Given the description of an element on the screen output the (x, y) to click on. 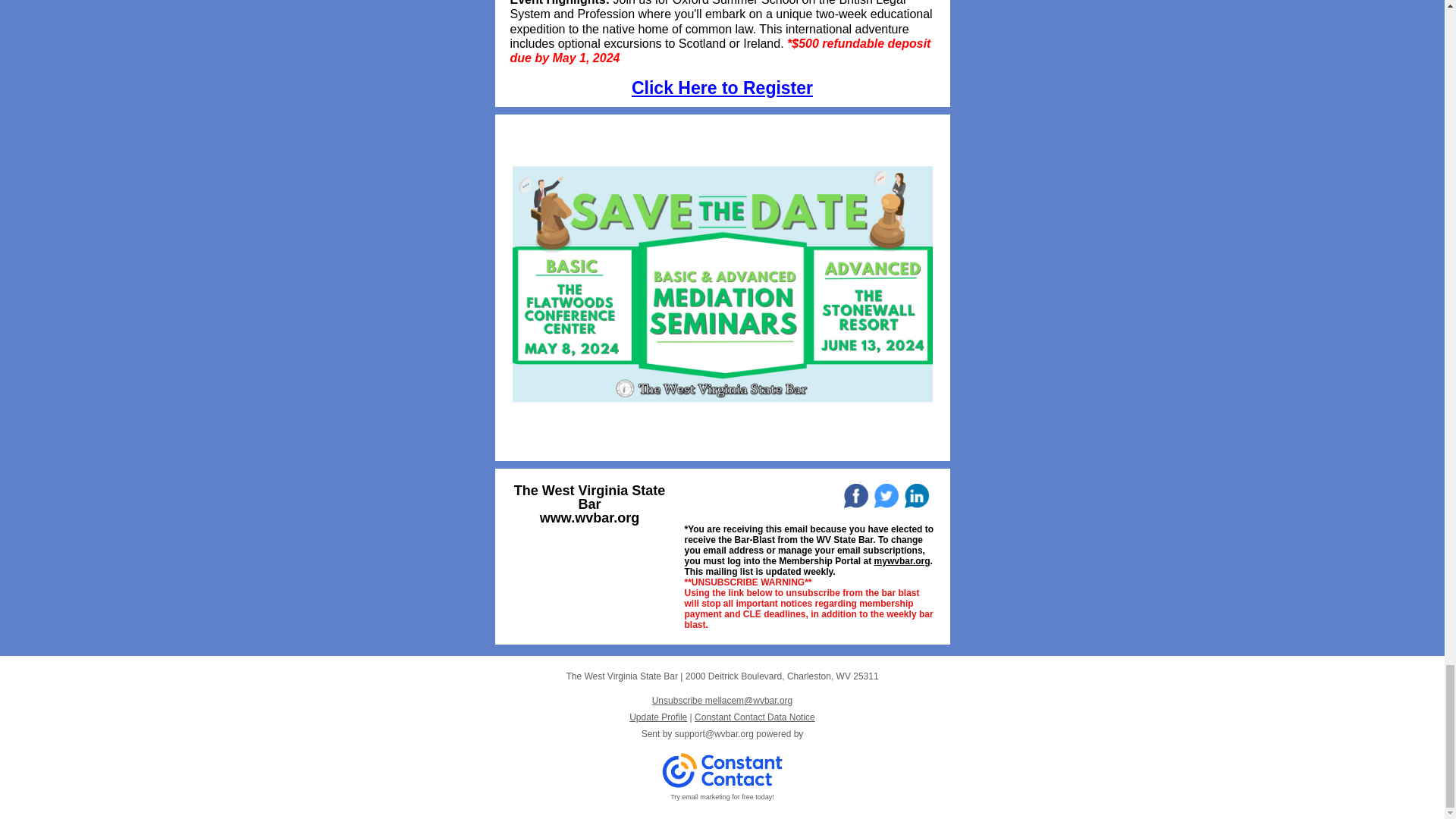
Try email marketing for free today! (721, 796)
mywvbar.org (902, 561)
Update Profile (657, 716)
Click Here to Register (721, 87)
Constant Contact Data Notice (754, 716)
